Given the description of an element on the screen output the (x, y) to click on. 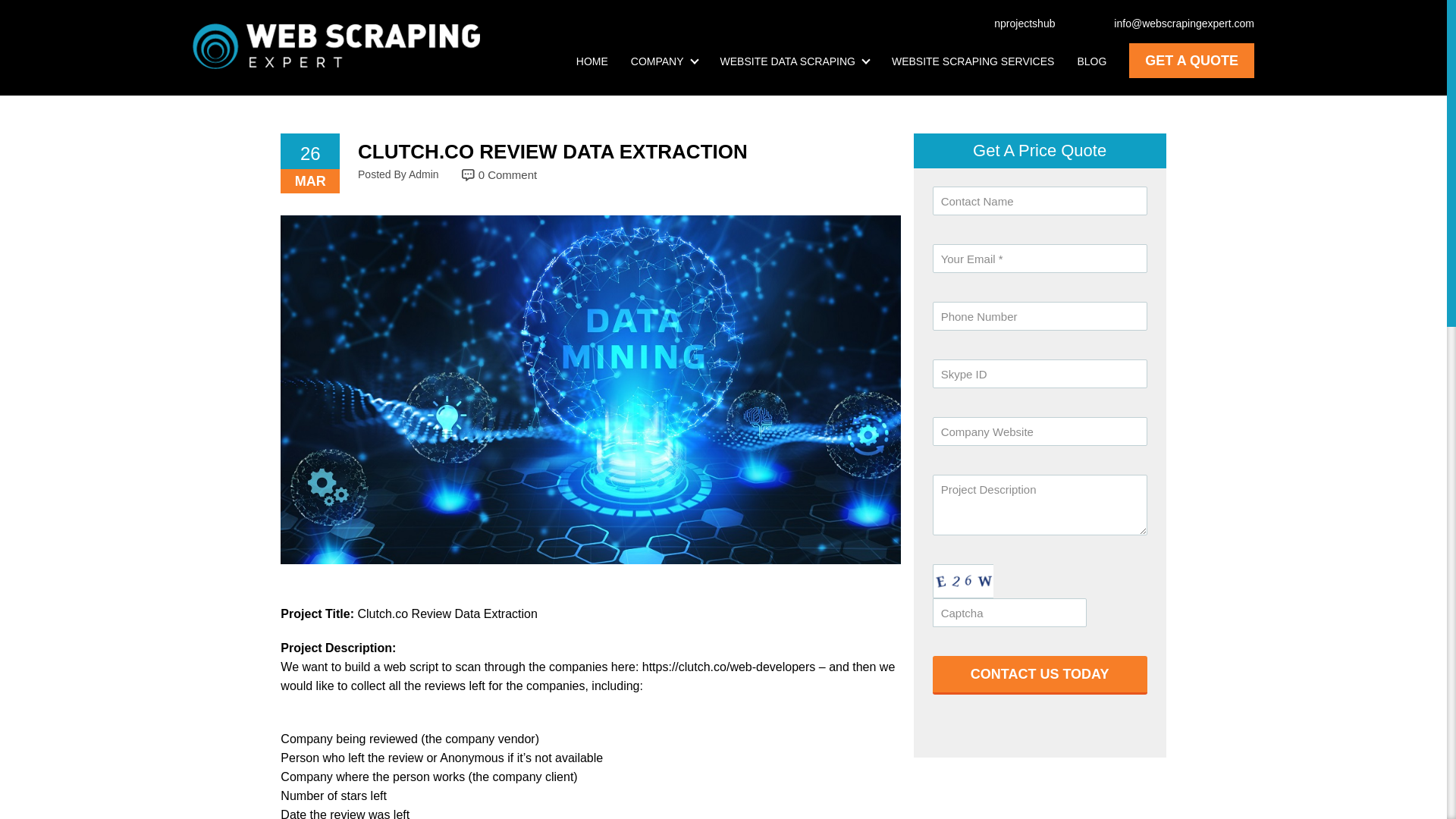
Contact Us Today (1040, 675)
Web Scraping Expert (336, 45)
nprojectshub (1016, 23)
HOME (592, 61)
